Given the description of an element on the screen output the (x, y) to click on. 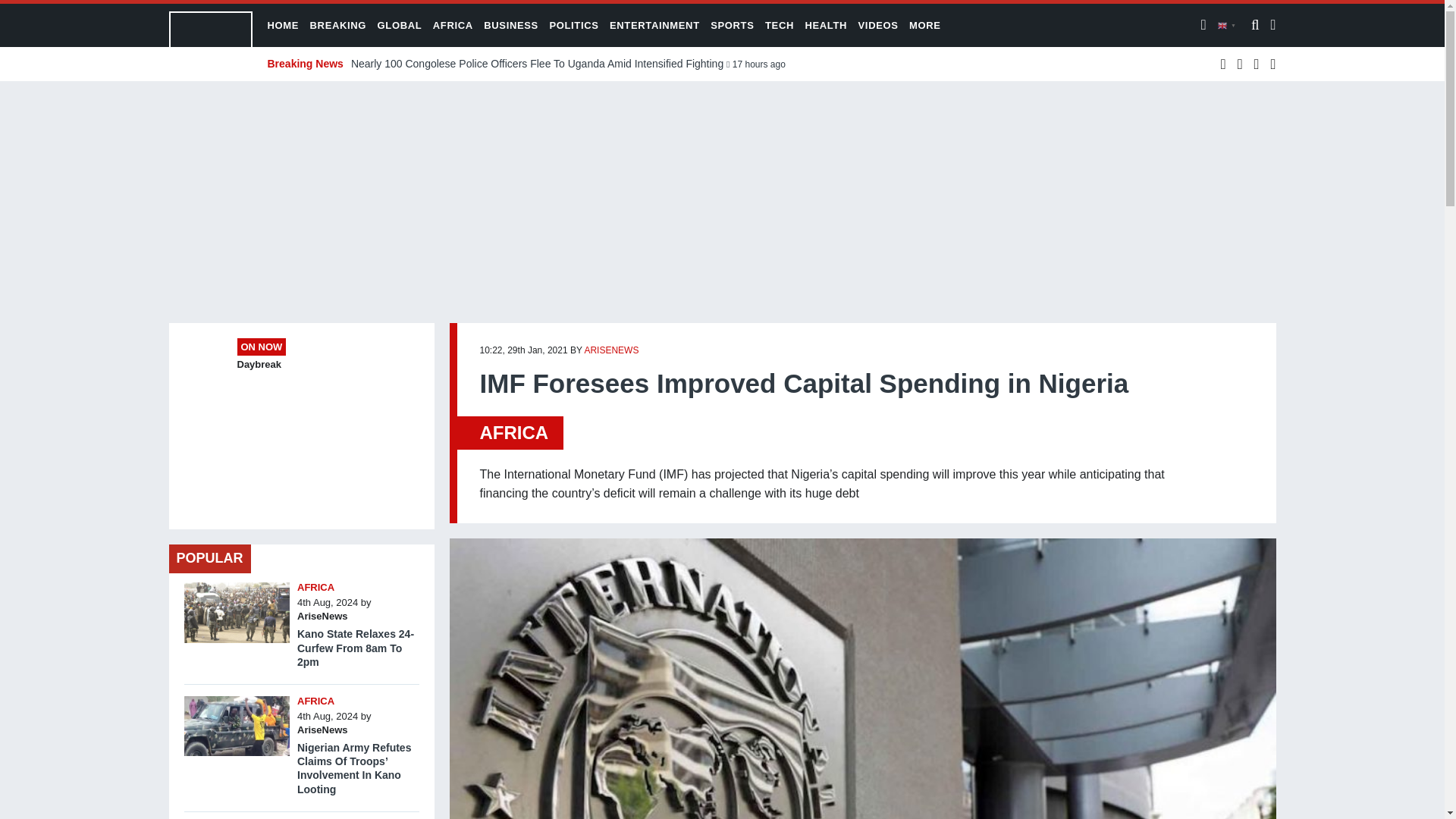
Posts by AriseNews (611, 349)
ARISENEWS (611, 349)
AriseNews (322, 729)
Posts by AriseNews (322, 729)
AFRICA (315, 700)
Kano State Relaxes 24-Curfew From 8am to 2pm (236, 585)
Kano State Relaxes 24-Curfew From 8am To 2pm (355, 647)
AFRICA (513, 431)
AriseNews (322, 615)
AFRICA (315, 586)
